Given the description of an element on the screen output the (x, y) to click on. 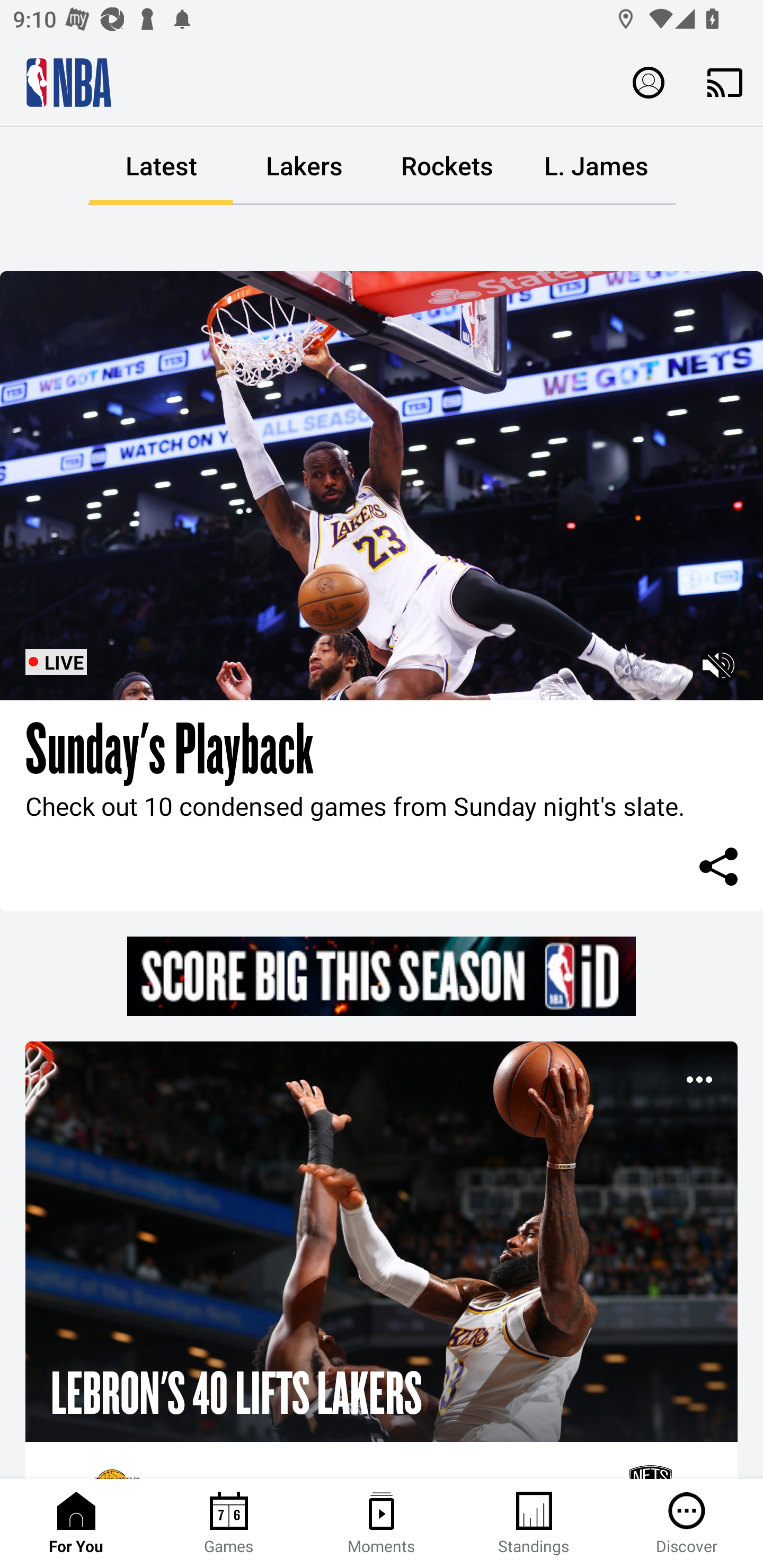
Cast. Disconnected (724, 82)
Profile (648, 81)
Lakers (303, 166)
Rockets (446, 166)
L. James (595, 166)
Games (228, 1523)
Moments (381, 1523)
Standings (533, 1523)
Discover (686, 1523)
